Given the description of an element on the screen output the (x, y) to click on. 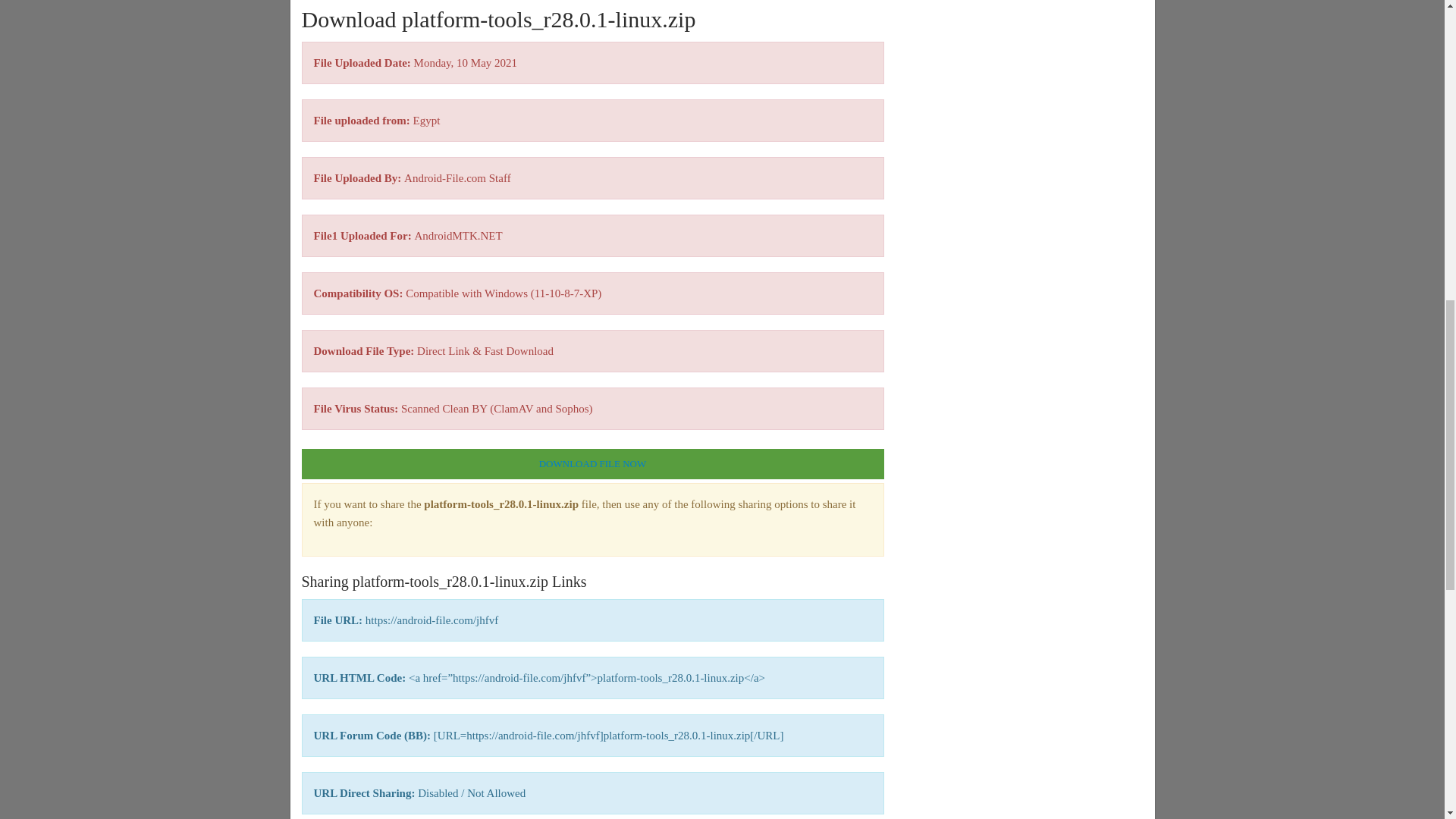
DOWNLOAD FILE NOW (592, 463)
